Given the description of an element on the screen output the (x, y) to click on. 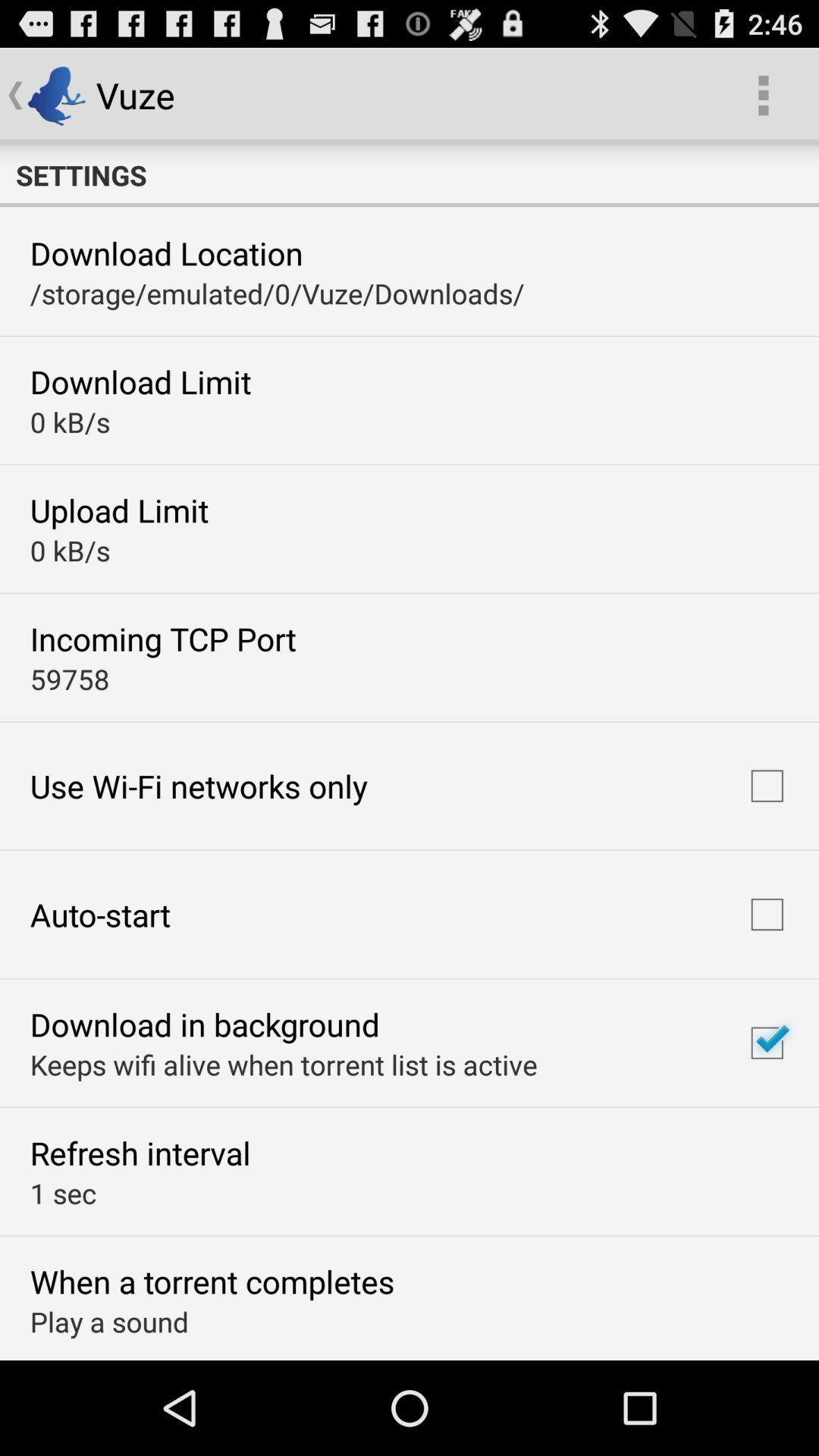
launch the keeps wifi alive (283, 1064)
